Given the description of an element on the screen output the (x, y) to click on. 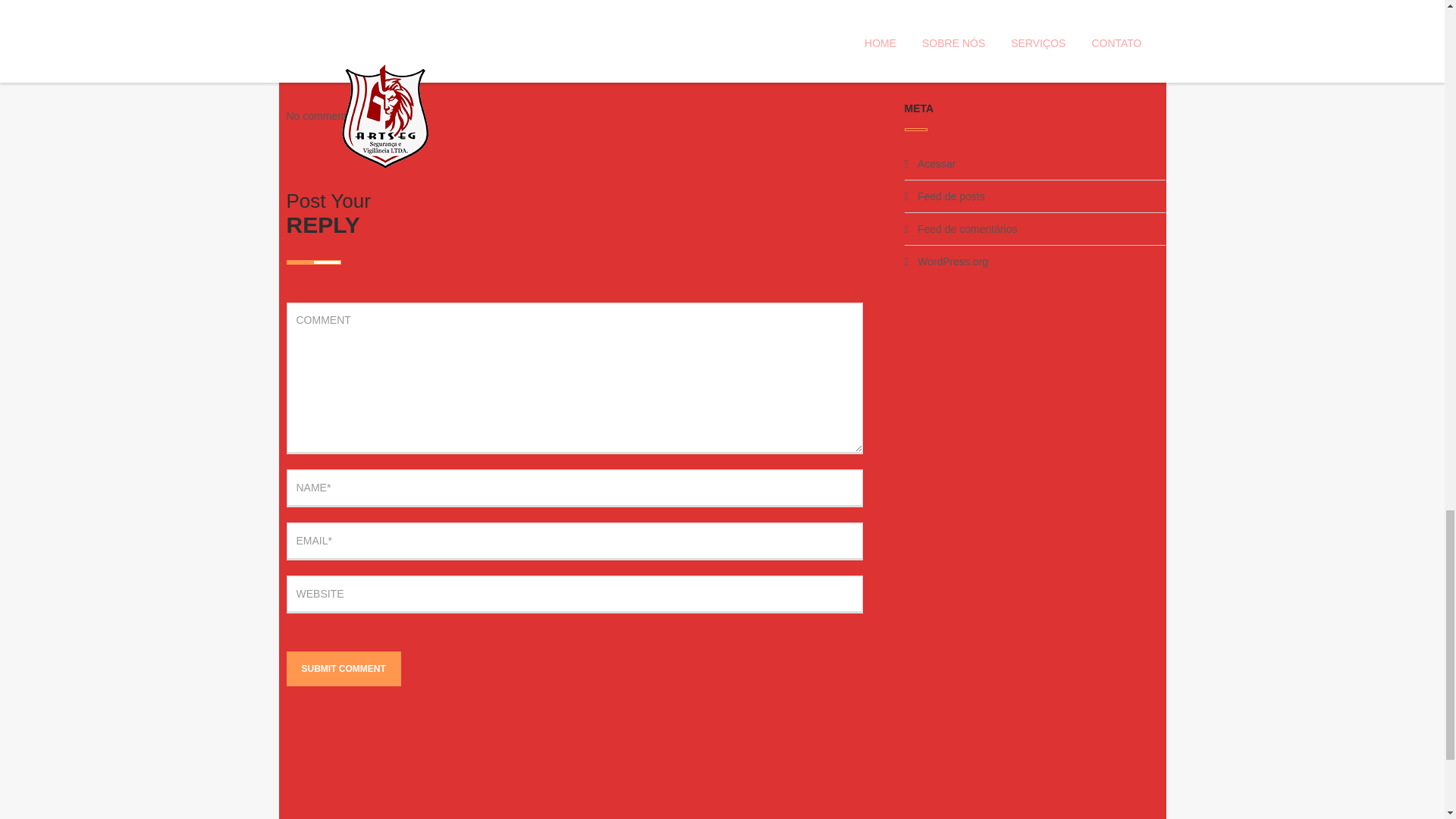
Submit Comment (343, 668)
Submit Comment (343, 668)
